Given the description of an element on the screen output the (x, y) to click on. 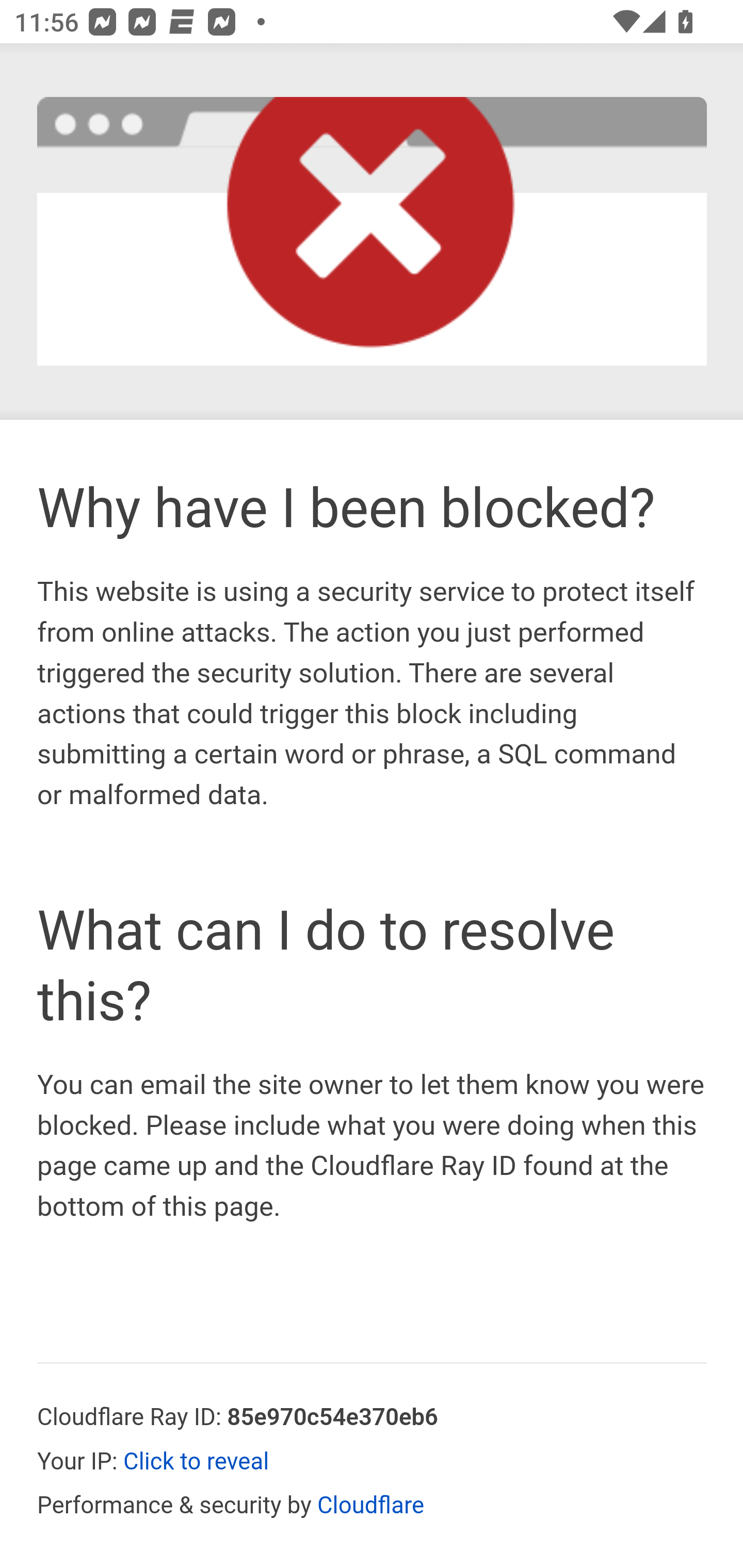
Click to reveal (196, 1462)
Cloudflare (370, 1506)
